Given the description of an element on the screen output the (x, y) to click on. 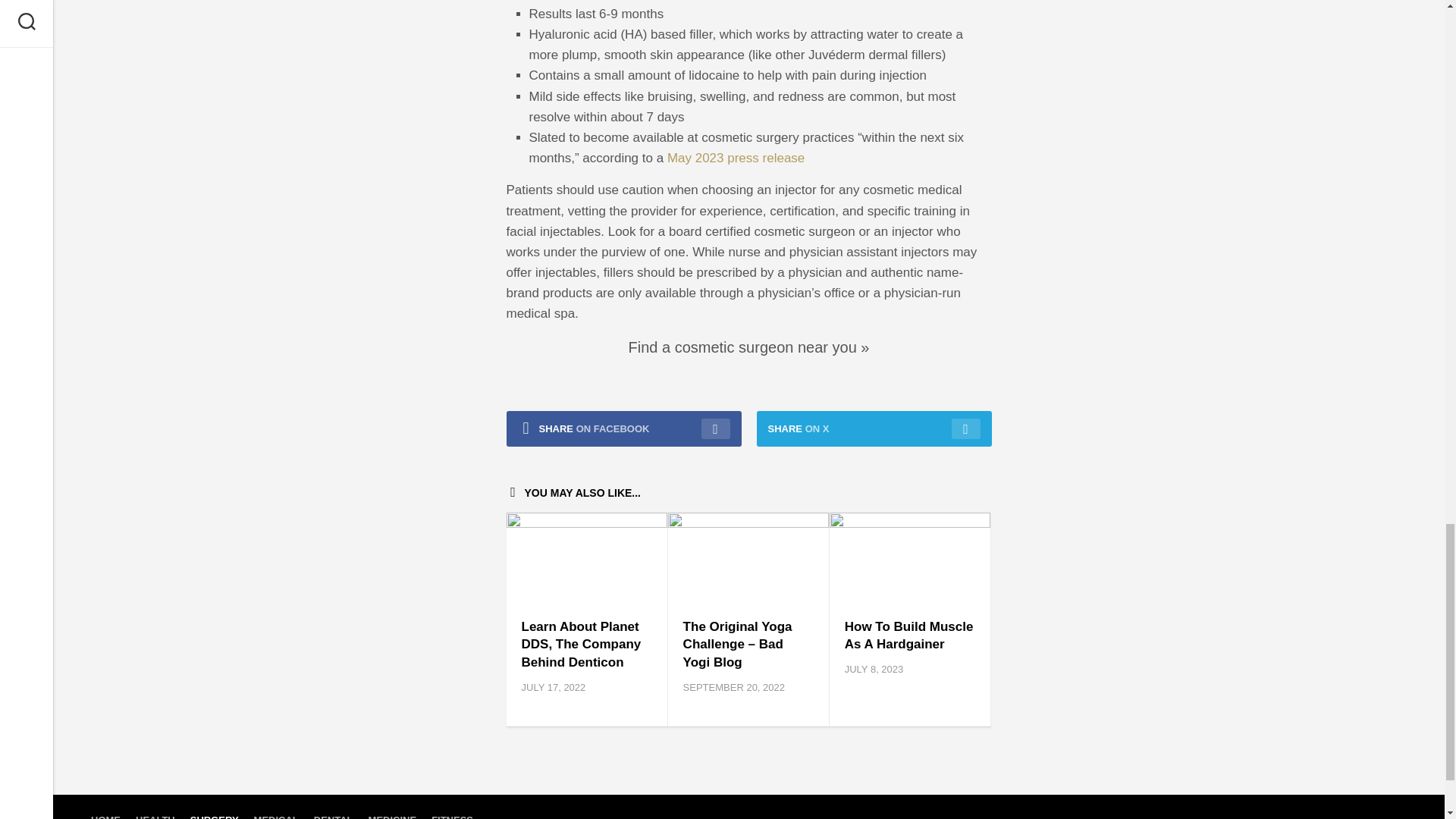
HOME (105, 816)
SHARE ON FACEBOOK (623, 428)
May 2023 press release (735, 157)
Learn About Planet DDS, The Company Behind Denticon (581, 644)
HEALTH (154, 816)
SHARE ON X (874, 428)
How To Build Muscle As A Hardgainer (909, 635)
